Given the description of an element on the screen output the (x, y) to click on. 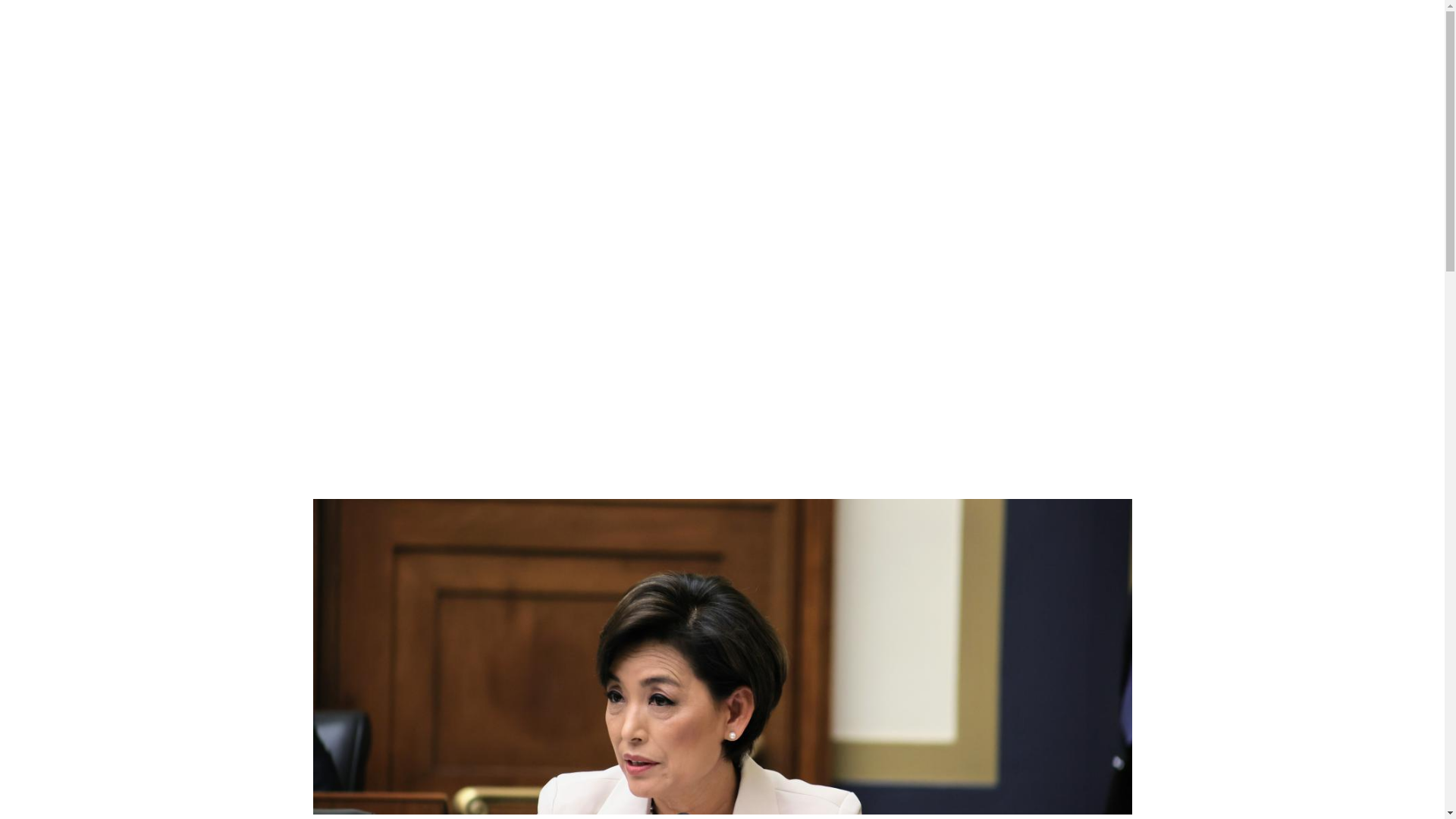
Follow on X (1058, 218)
Follow on Facebook (1028, 218)
Follow on Youtube (1118, 218)
Follow on Instagram (1088, 218)
